Given the description of an element on the screen output the (x, y) to click on. 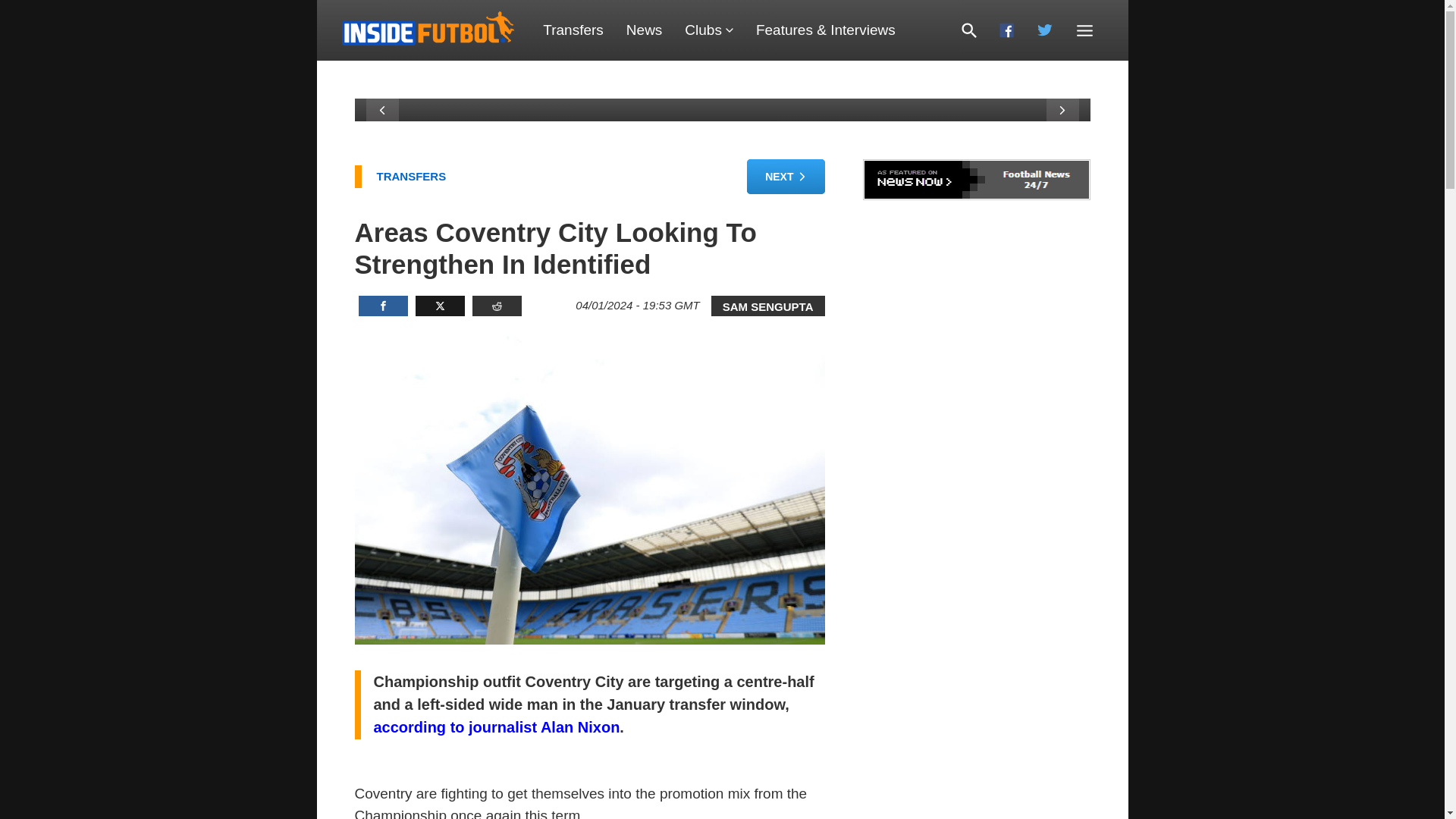
Clubs (708, 30)
Transfers (572, 30)
News (644, 30)
